Given the description of an element on the screen output the (x, y) to click on. 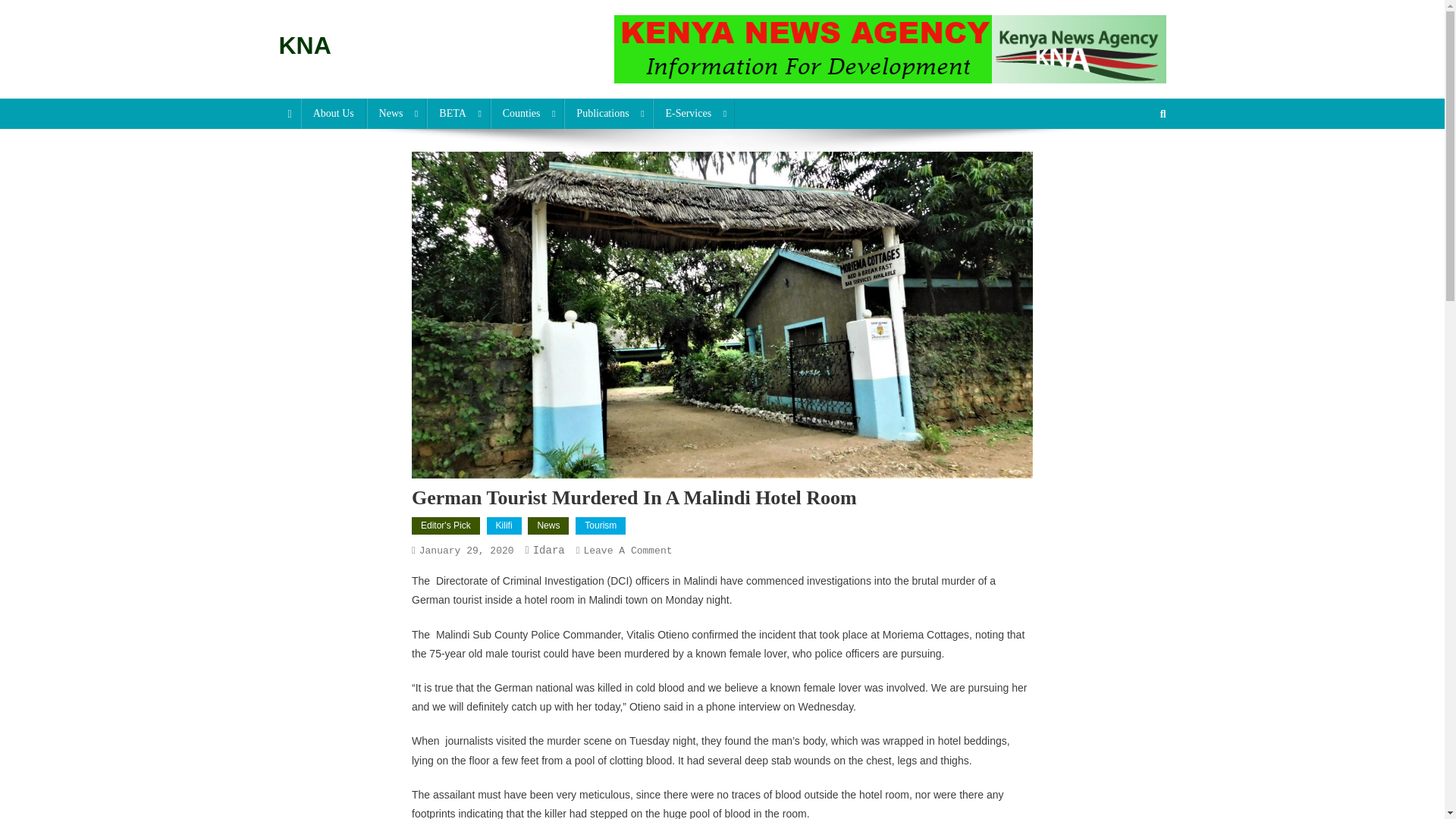
News (396, 113)
Counties (527, 113)
KNA (305, 44)
About Us (333, 113)
BETA (457, 113)
